Given the description of an element on the screen output the (x, y) to click on. 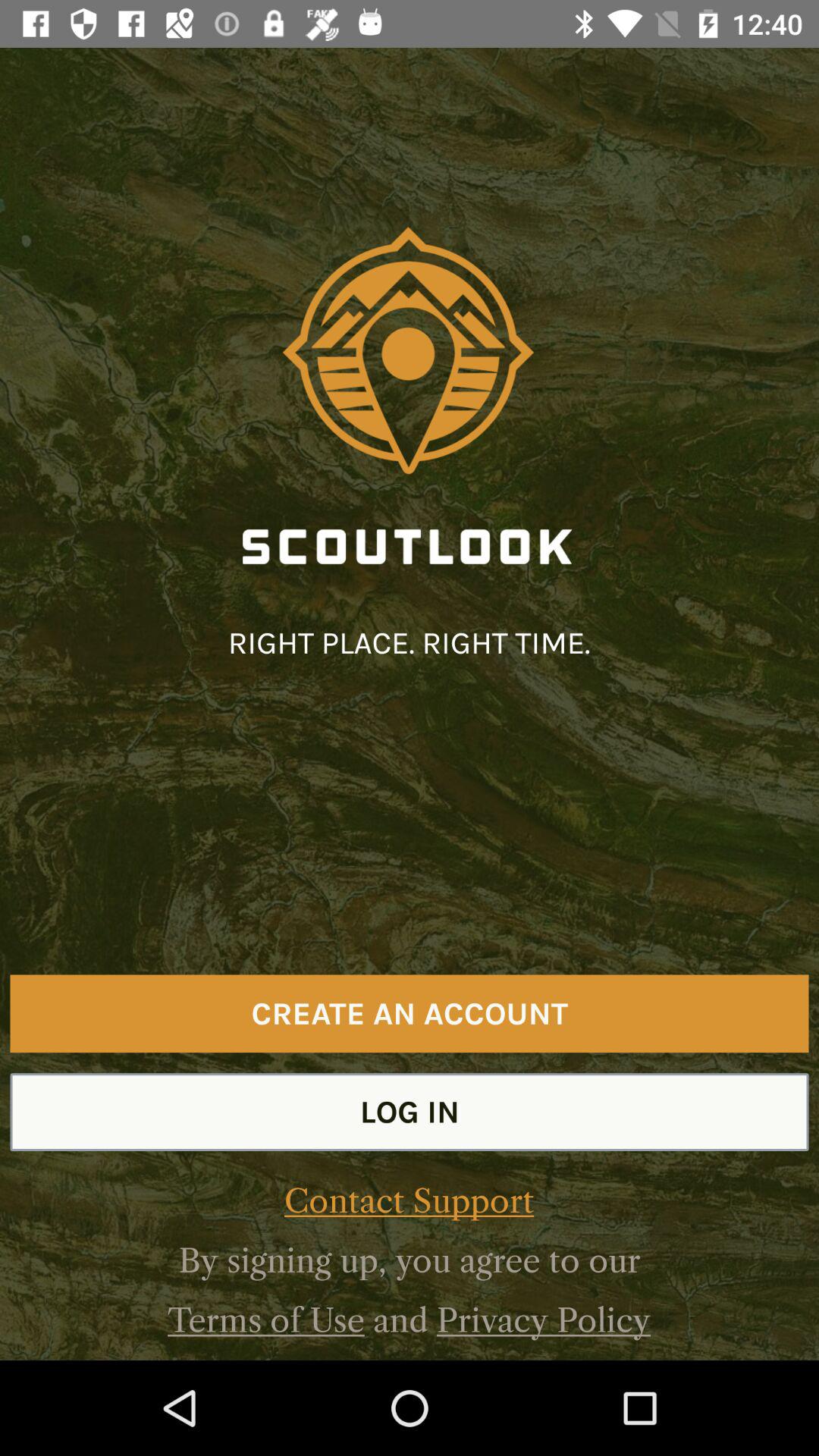
press the icon below the by signing up icon (265, 1320)
